Given the description of an element on the screen output the (x, y) to click on. 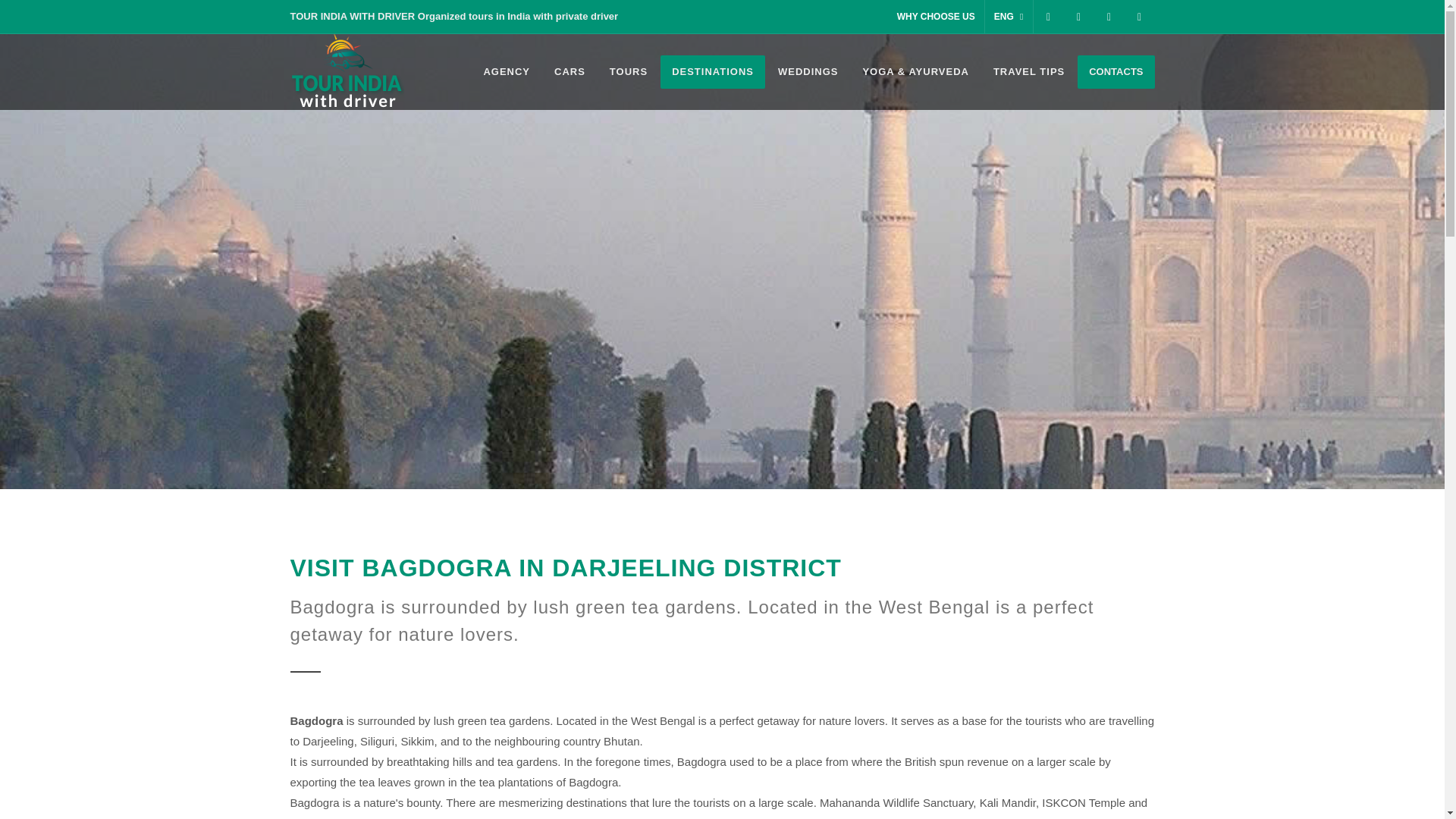
Tour India with Driver (506, 71)
TOURS (628, 71)
Tour India With Driver home page (346, 71)
Follow US  Instagram (1077, 16)
Follow US  YouTube (1108, 16)
WHY CHOOSE US (936, 16)
ENG (1008, 16)
Why choose our car rental with driver services in India (936, 16)
AGENCY (506, 71)
Follow US  Tripadvisor (1139, 16)
Follow US  facebook (1047, 16)
CARS (569, 71)
